Given the description of an element on the screen output the (x, y) to click on. 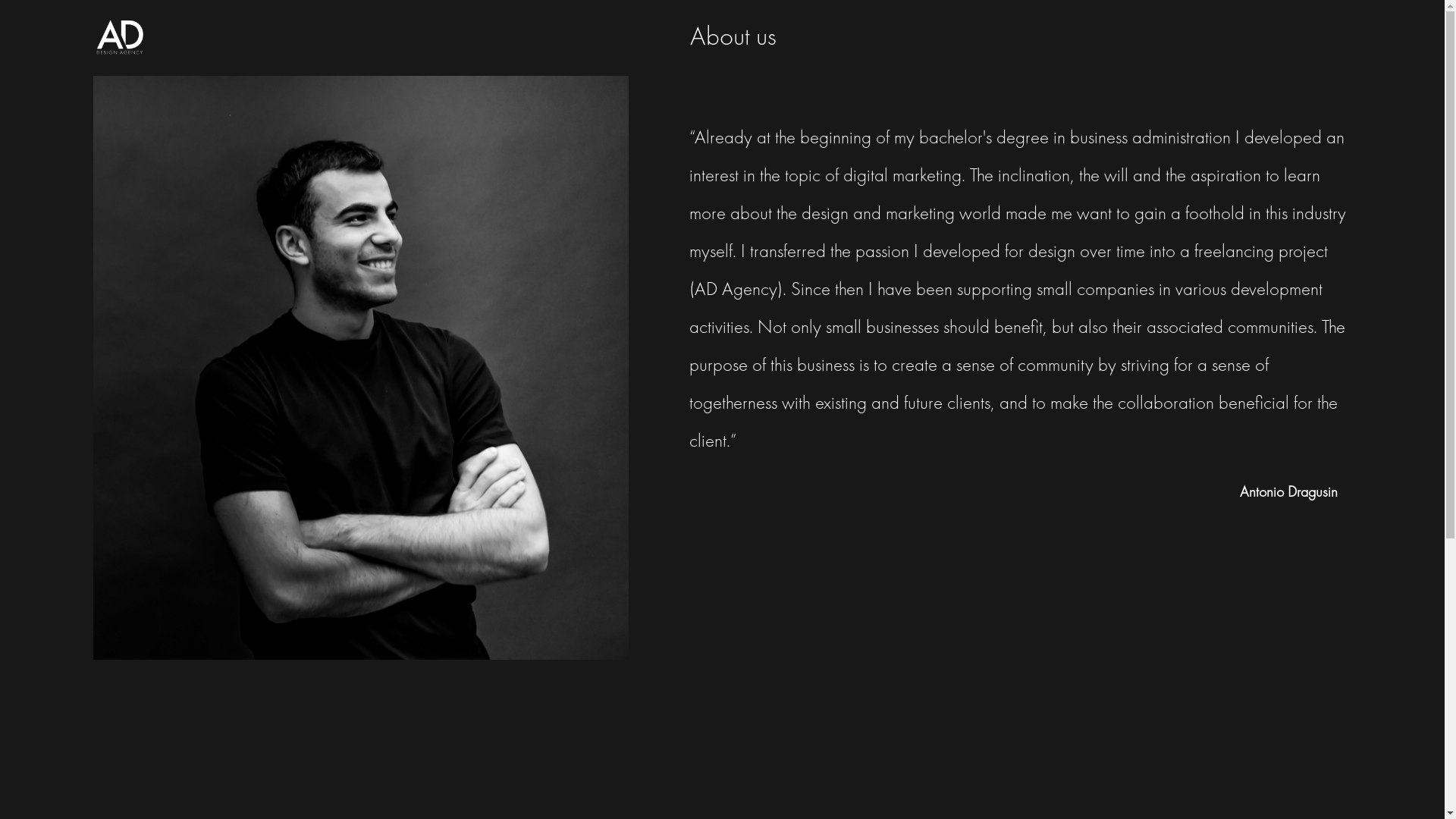
About us Element type: text (733, 37)
